Given the description of an element on the screen output the (x, y) to click on. 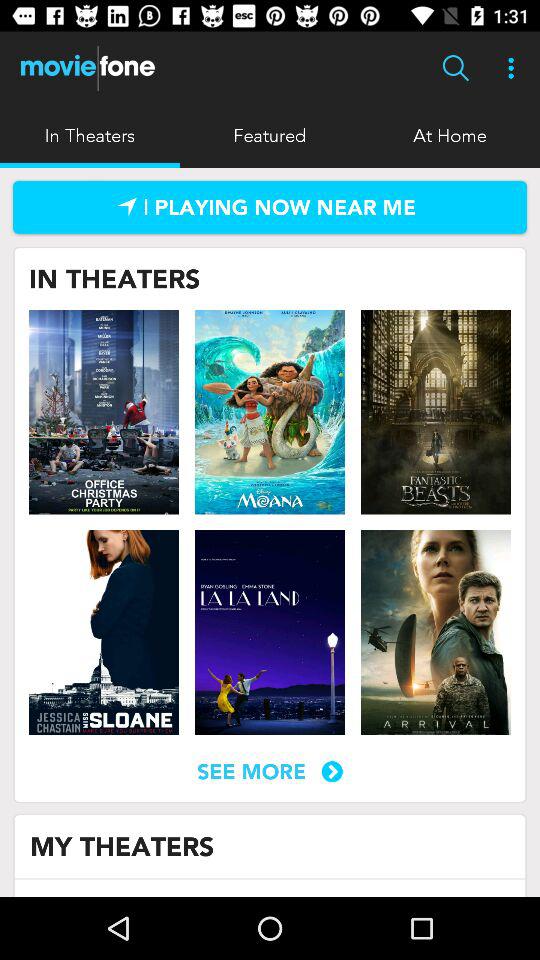
select movie (270, 632)
